Given the description of an element on the screen output the (x, y) to click on. 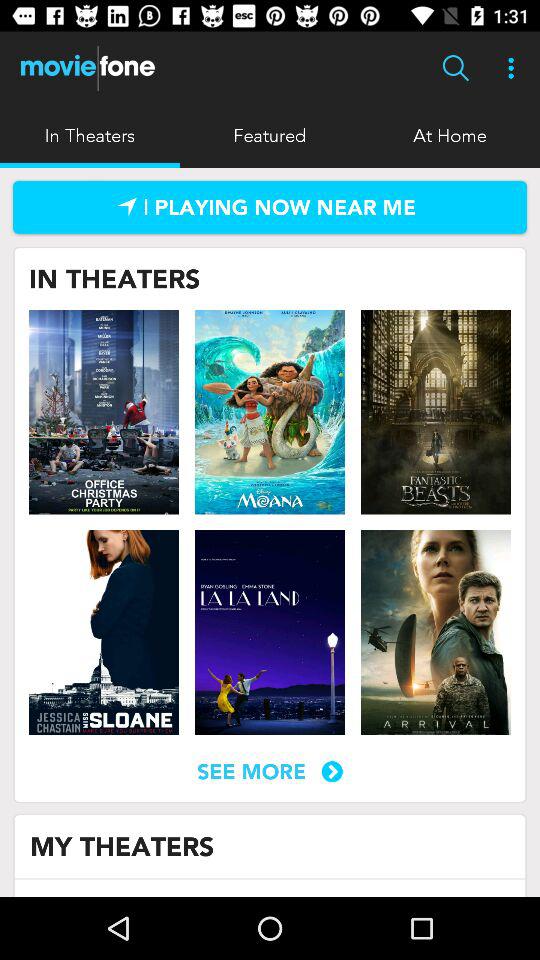
select movie (270, 632)
